Given the description of an element on the screen output the (x, y) to click on. 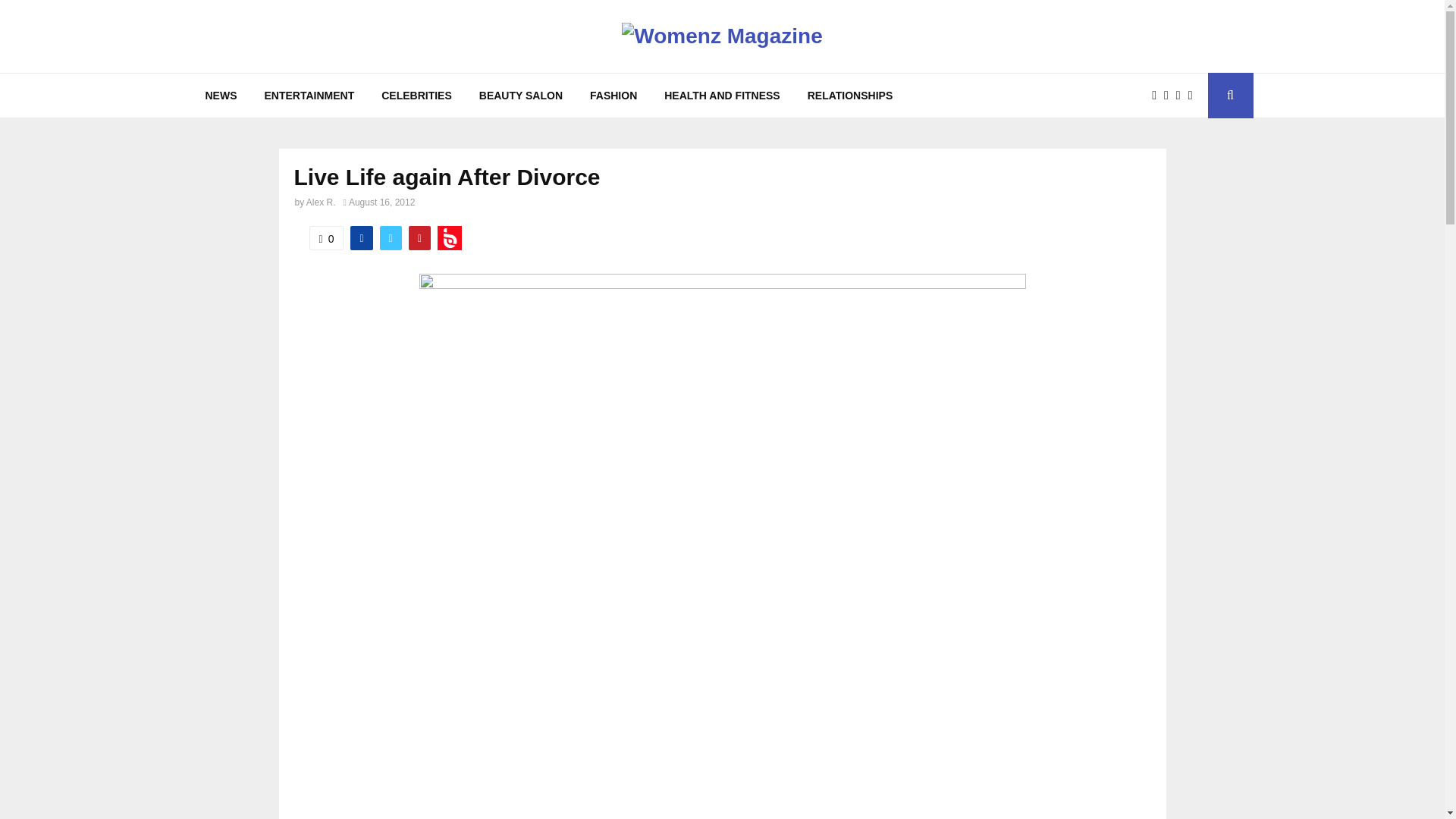
NEWS (220, 94)
FASHION (613, 94)
0 (325, 238)
CELEBRITIES (416, 94)
BEAUTY SALON (520, 94)
Alex R. (320, 202)
RELATIONSHIPS (850, 94)
HEALTH AND FITNESS (721, 94)
Like (325, 238)
ENTERTAINMENT (309, 94)
